Given the description of an element on the screen output the (x, y) to click on. 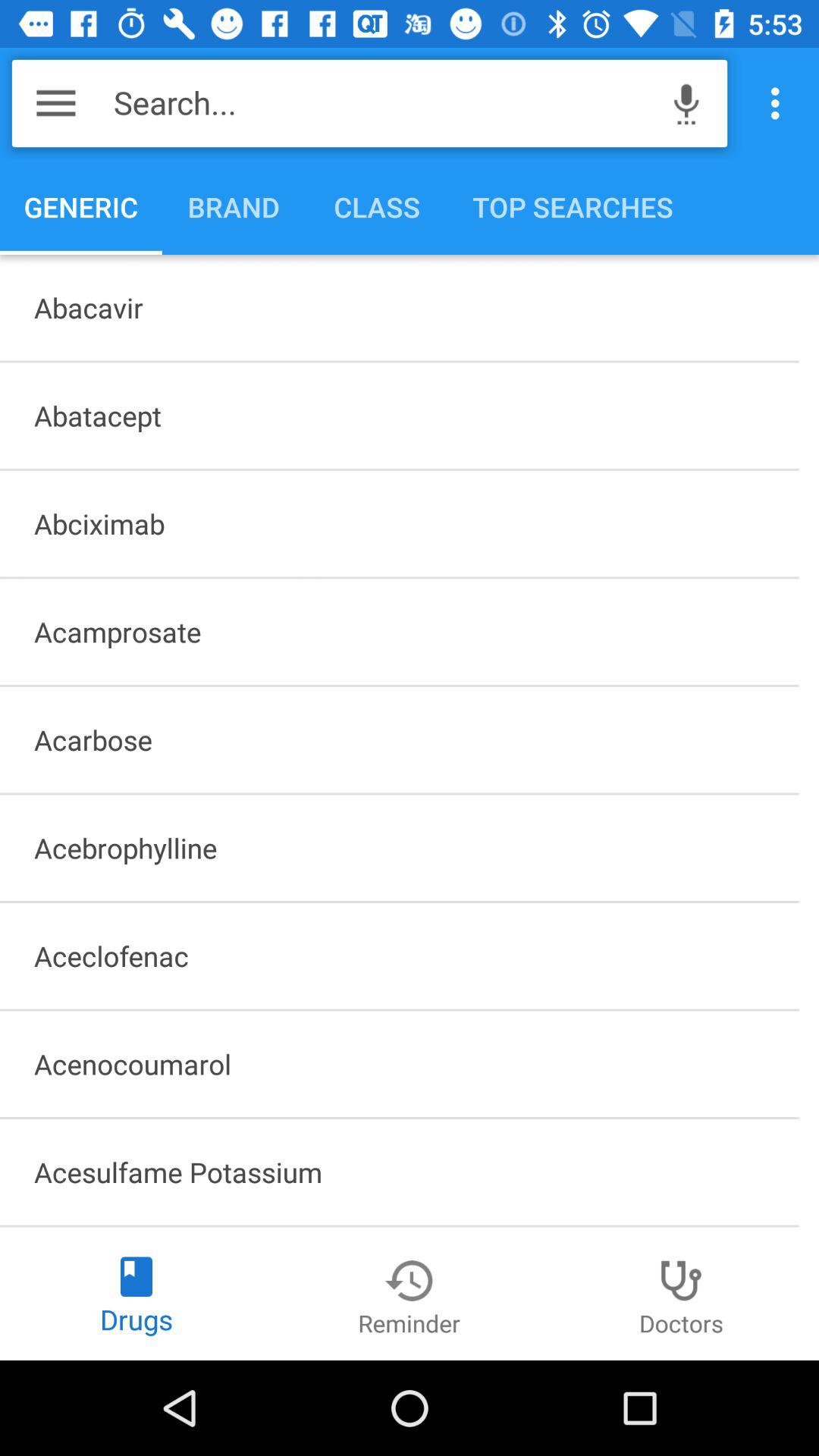
choose search... item (383, 103)
